Given the description of an element on the screen output the (x, y) to click on. 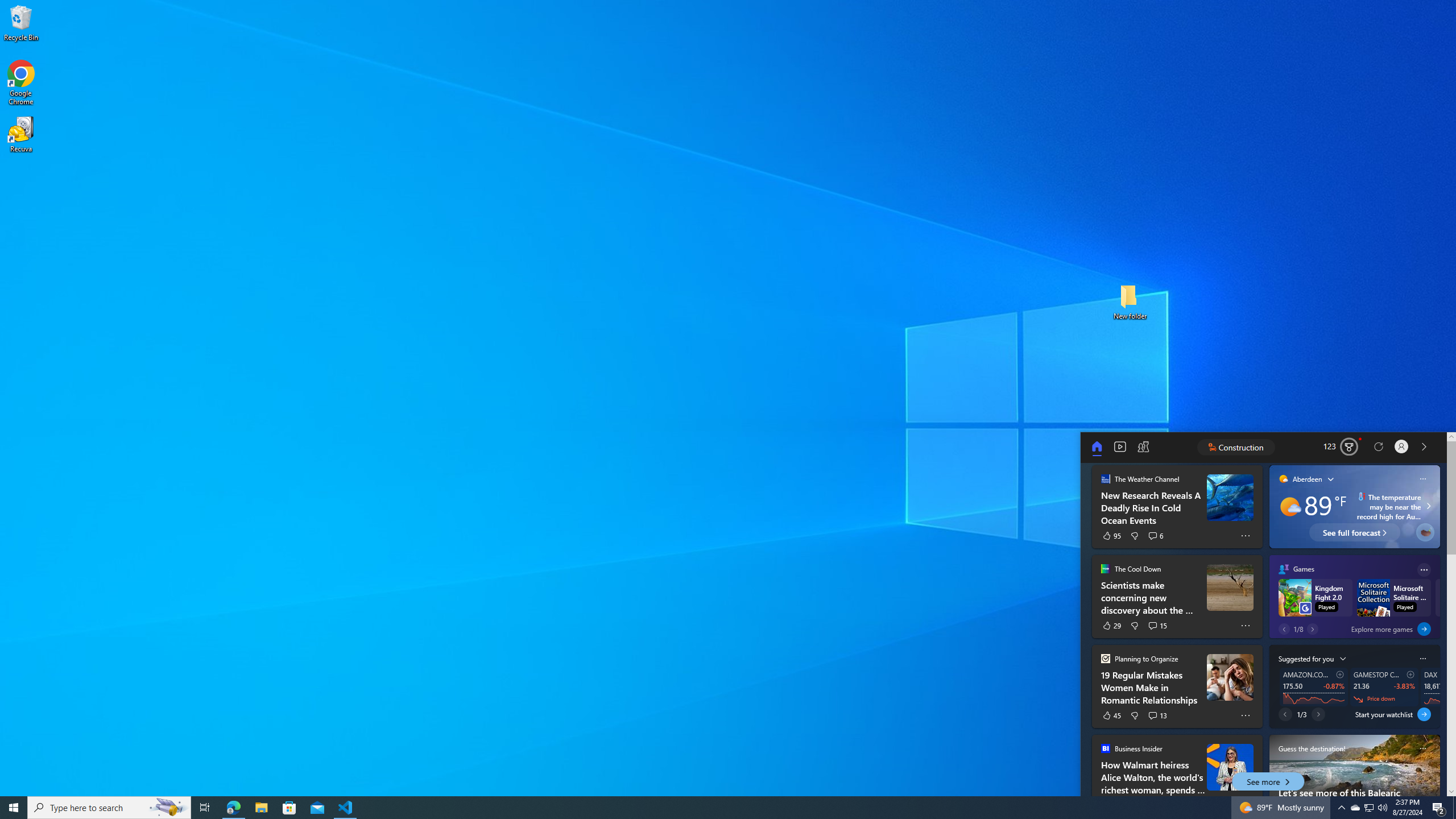
Settings (1401, 446)
Dislike (1134, 715)
Explore more games Explore more games (1383, 628)
See more news (1423, 446)
Start your watchlist (1423, 714)
Aberdeen (1300, 478)
See 6 comments (1155, 535)
Construction (1235, 446)
Action Center, 2 new notifications (1439, 807)
Next page (1317, 714)
